Given the description of an element on the screen output the (x, y) to click on. 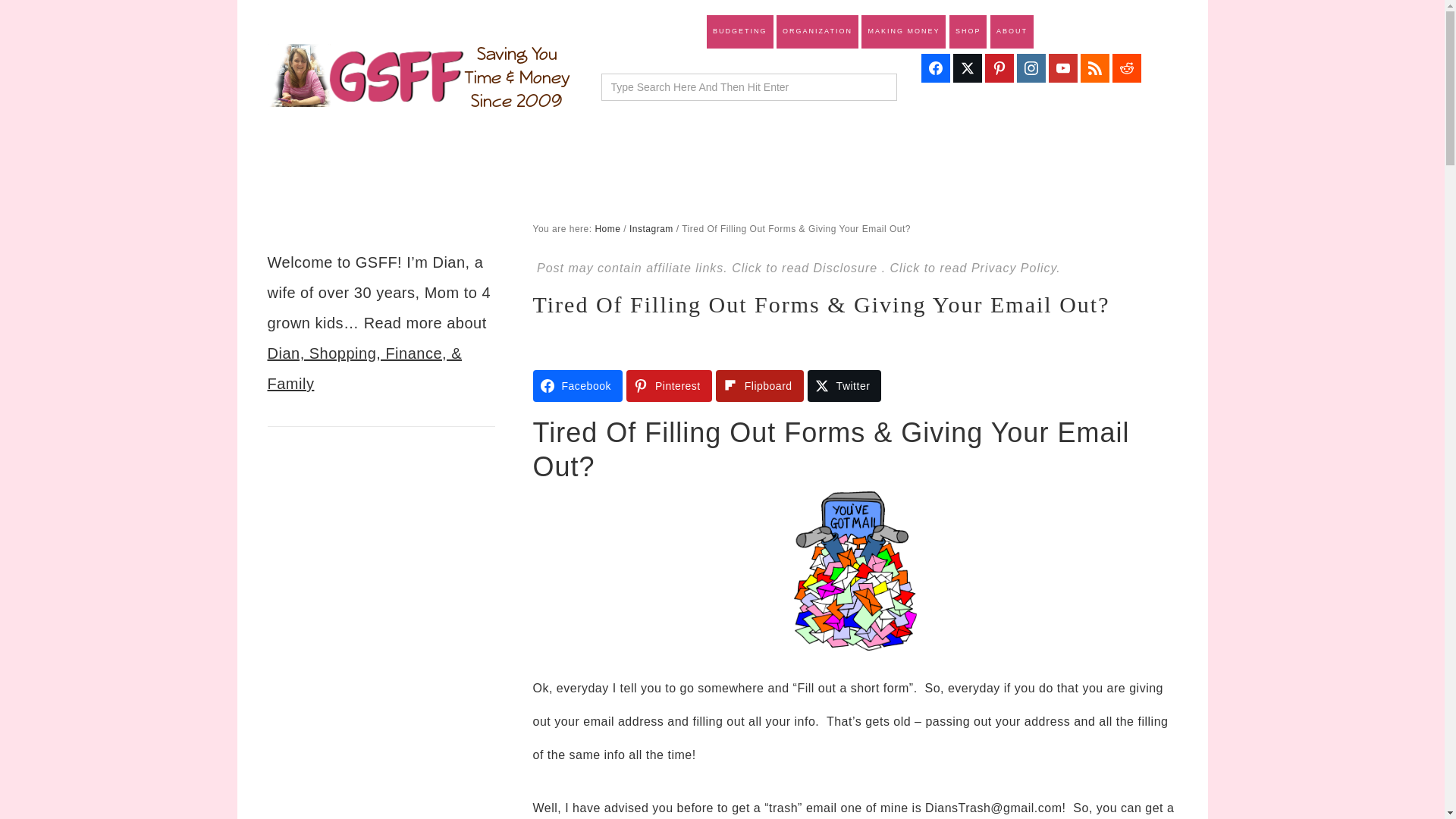
ABOUT (1011, 31)
Disclosure (847, 267)
ORGANIZATION (817, 31)
Share on Facebook (576, 386)
Share on Pinterest (668, 386)
Share on Flipboard (759, 386)
Pinterest (668, 386)
BUDGETING (739, 31)
Home (607, 228)
GSFF (418, 75)
